Given the description of an element on the screen output the (x, y) to click on. 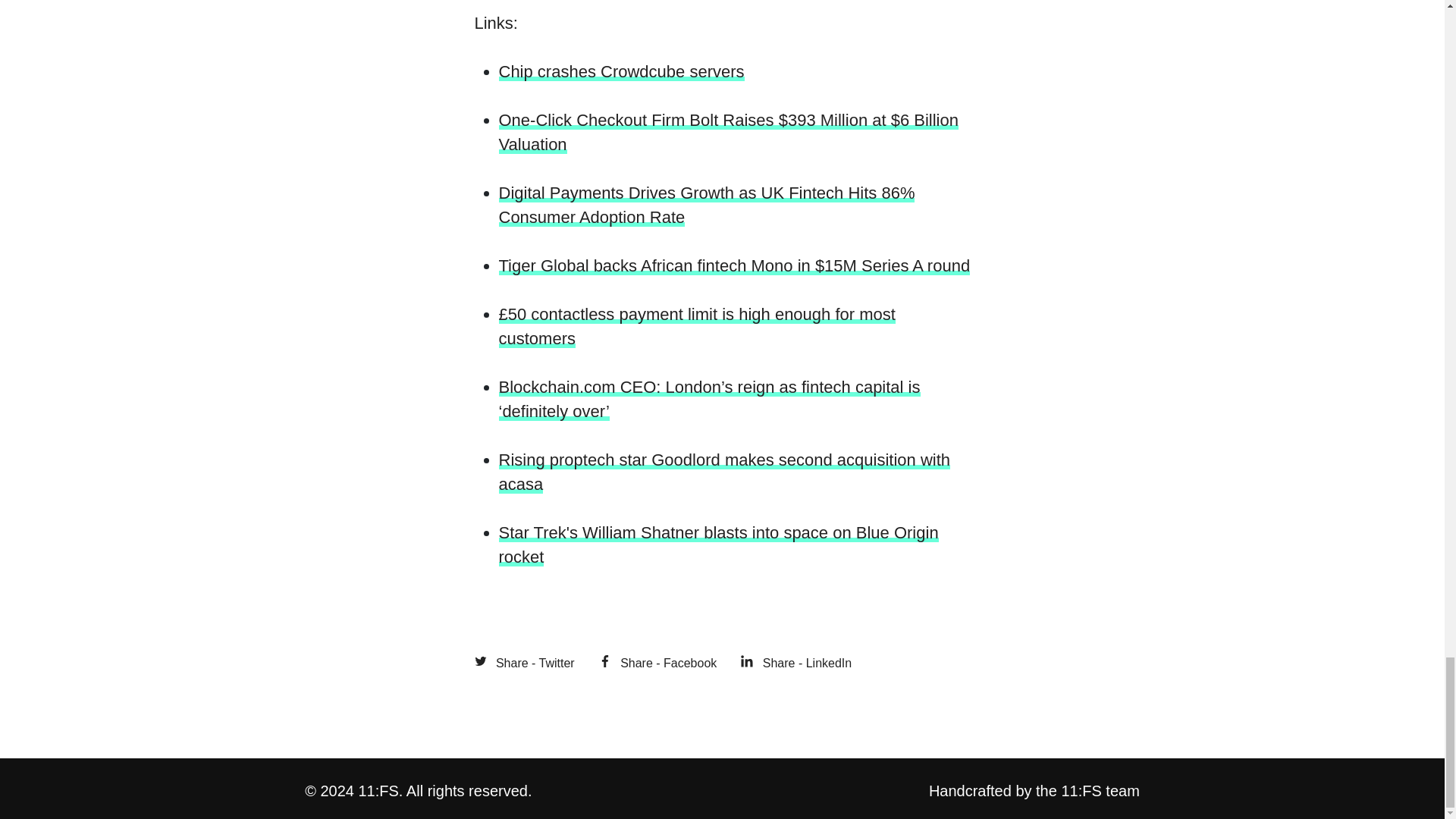
Chip crashes Crowdcube servers (621, 71)
